Given the description of an element on the screen output the (x, y) to click on. 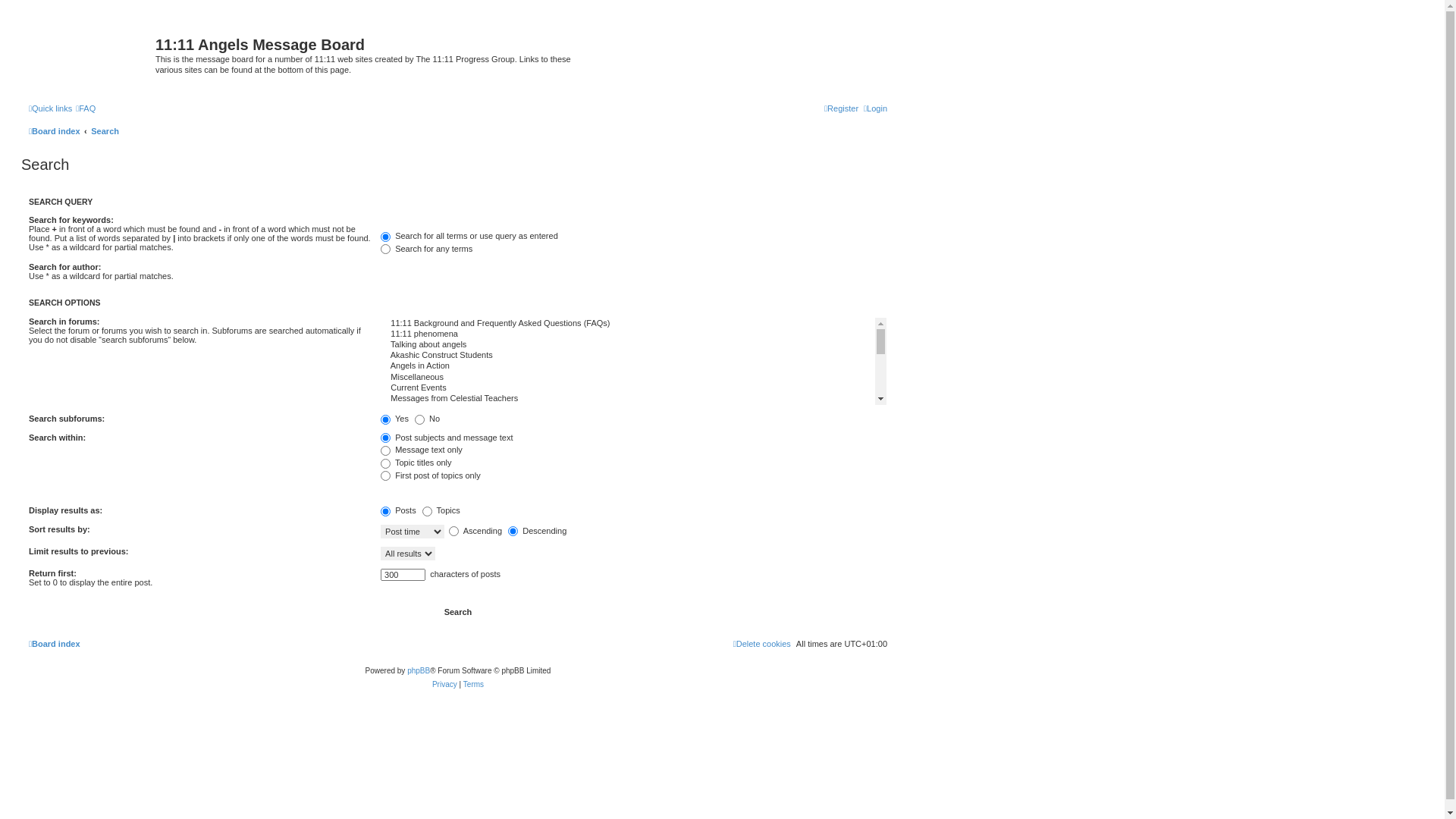
Delete cookies Element type: text (761, 643)
FAQ Element type: text (85, 108)
Search Element type: text (105, 131)
Search for keywords Element type: hover (597, 222)
Return first Element type: hover (402, 574)
phpBB Element type: text (418, 670)
Privacy Element type: text (444, 684)
Terms Element type: text (473, 684)
Board index Element type: hover (90, 49)
Login Element type: text (875, 108)
Quick links Element type: text (50, 108)
Board index Element type: text (54, 131)
Board index Element type: text (54, 643)
Search for author Element type: hover (597, 269)
Register Element type: text (841, 108)
Search Element type: text (458, 612)
